Given the description of an element on the screen output the (x, y) to click on. 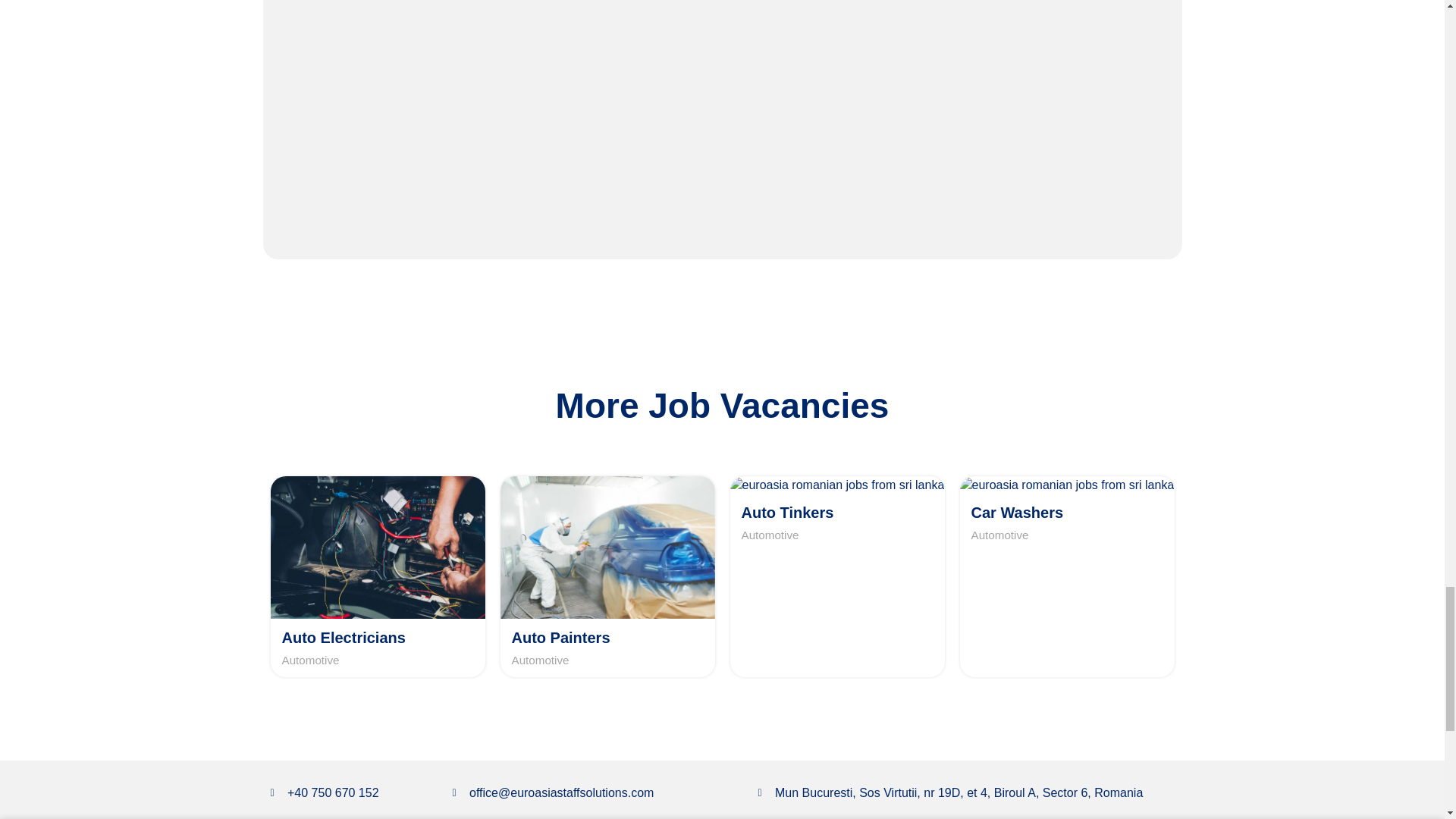
Automotive (310, 659)
Automotive (540, 659)
Auto Electricians (344, 637)
Automotive (770, 534)
Auto Tinkers (787, 512)
Car Washers (1016, 512)
Automotive (999, 534)
Auto Painters (560, 637)
